Given the description of an element on the screen output the (x, y) to click on. 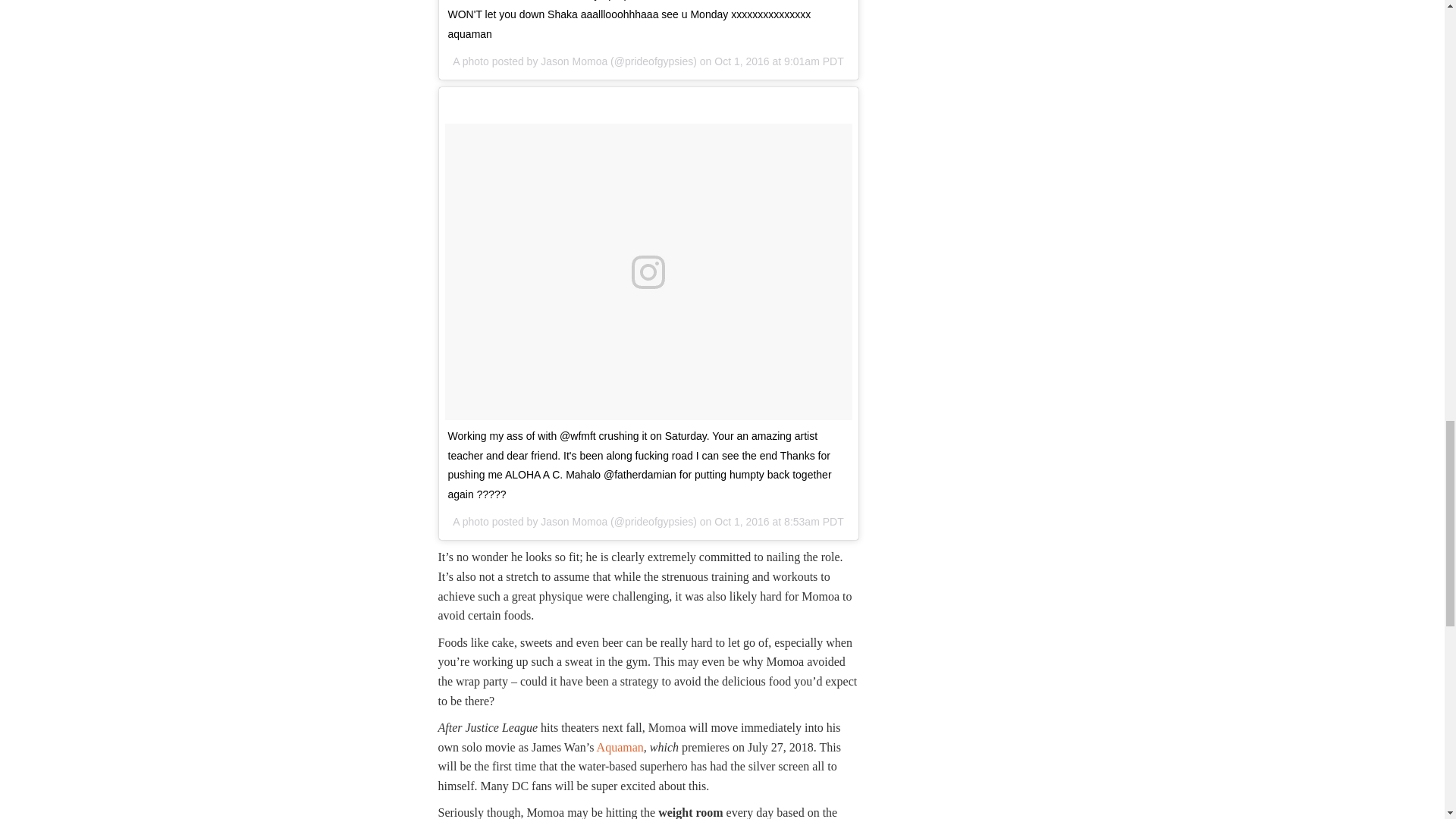
Aquaman (619, 747)
Advertisement (1017, 13)
